Given the description of an element on the screen output the (x, y) to click on. 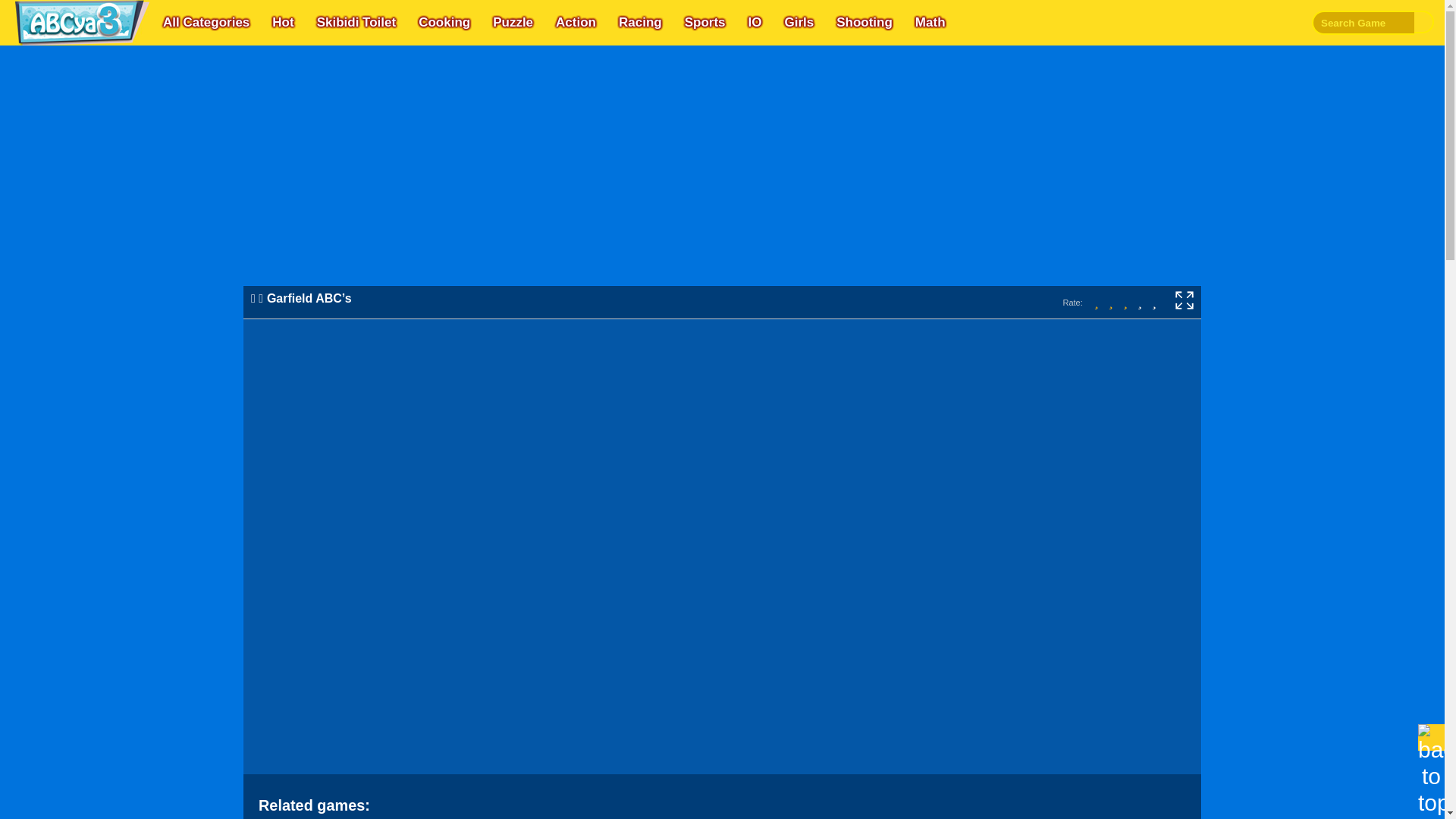
All Categories (206, 22)
Girls (798, 22)
Hot (282, 22)
Math (930, 22)
Action (576, 22)
IO (753, 22)
Hot (282, 22)
Puzzle (512, 22)
Action (576, 22)
Puzzle (512, 22)
Racing (640, 22)
Sports (705, 22)
Racing (640, 22)
Skibidi Toilet (356, 22)
Cooking (443, 22)
